Given the description of an element on the screen output the (x, y) to click on. 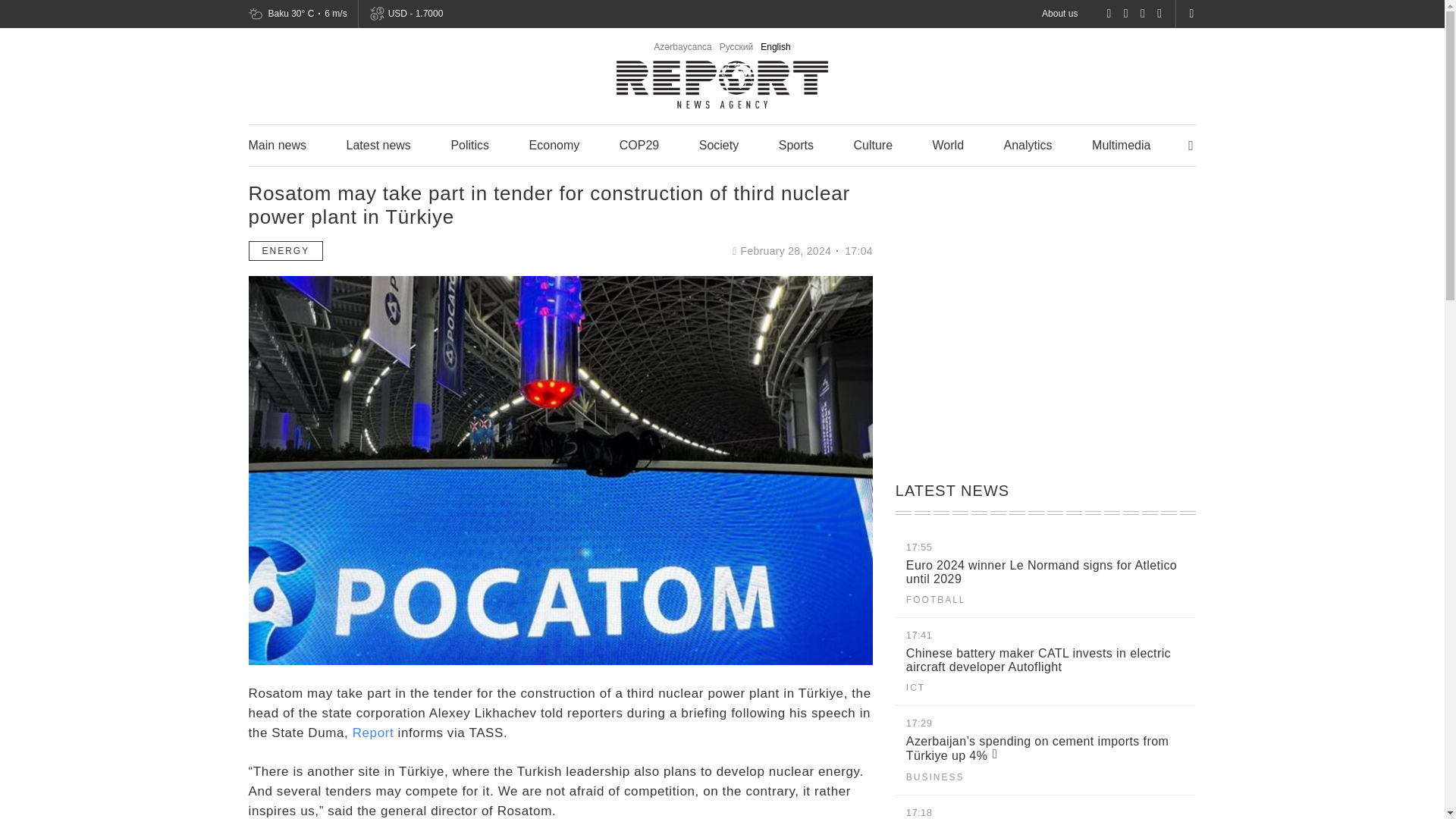
Culture (872, 144)
Economy (554, 144)
Latest news (378, 144)
Politics (469, 144)
Society (718, 144)
About us (1059, 13)
Analytics (1028, 144)
COP29 (639, 144)
World (948, 144)
USD - 1.7000 (414, 13)
Main news (276, 144)
English (775, 46)
Multimedia (1121, 144)
Sports (795, 144)
